Given the description of an element on the screen output the (x, y) to click on. 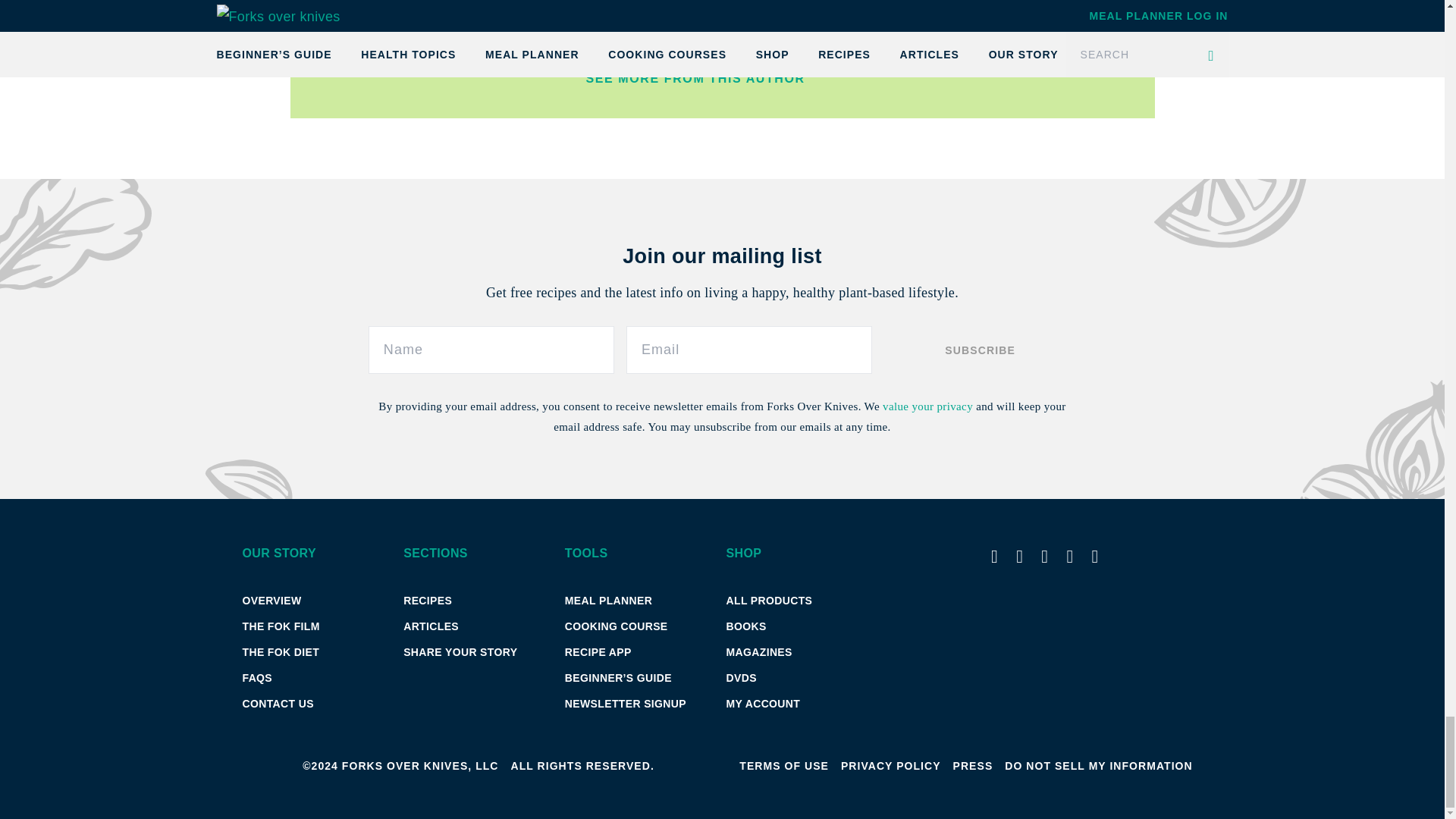
OVERVIEW (272, 600)
SUBSCRIBE (979, 349)
Instagram (1041, 19)
Facebook (612, 40)
SEE MORE FROM THIS AUTHOR (852, 78)
value your privacy (927, 406)
